Given the description of an element on the screen output the (x, y) to click on. 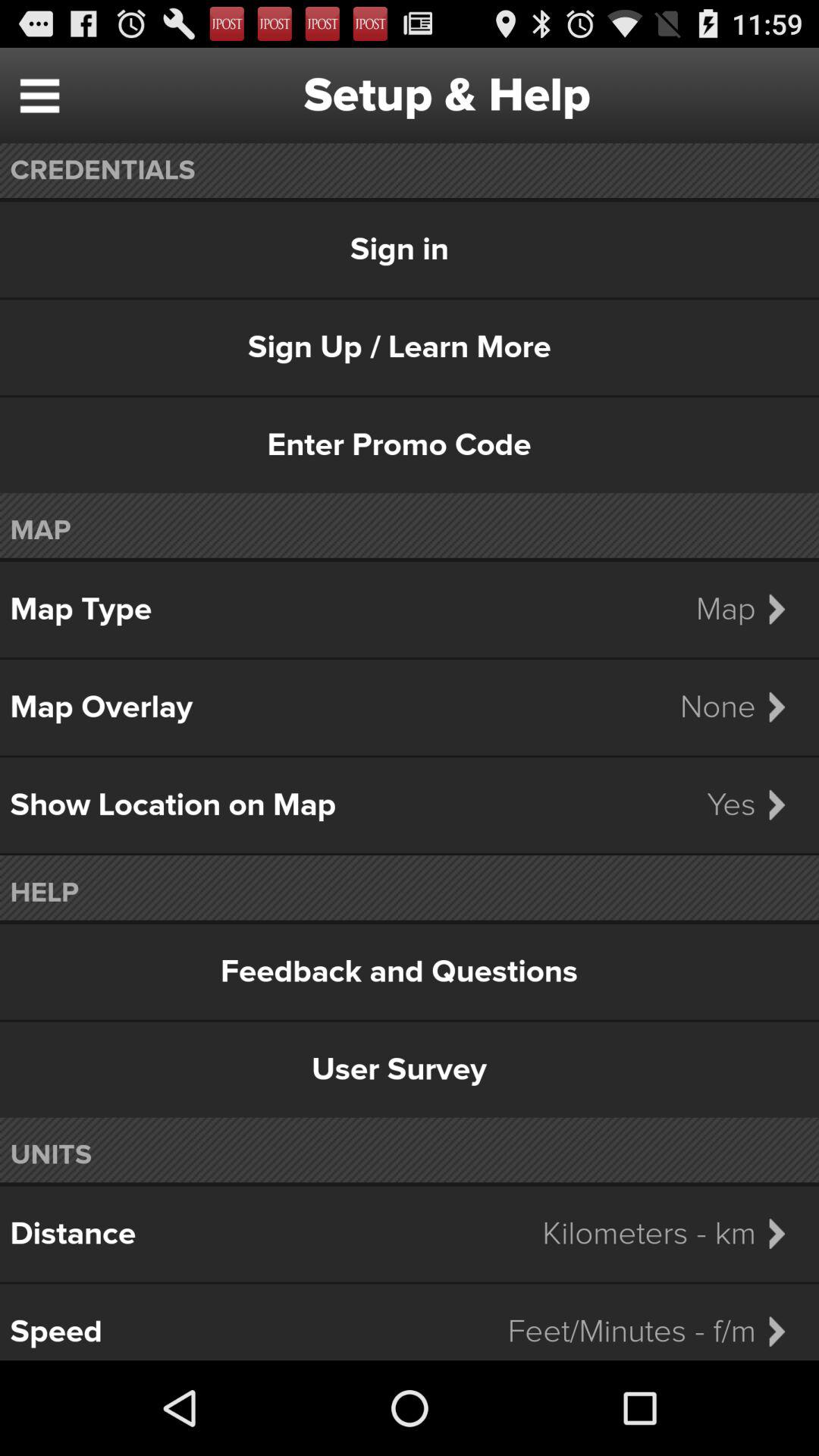
open icon at the top left corner (39, 95)
